Given the description of an element on the screen output the (x, y) to click on. 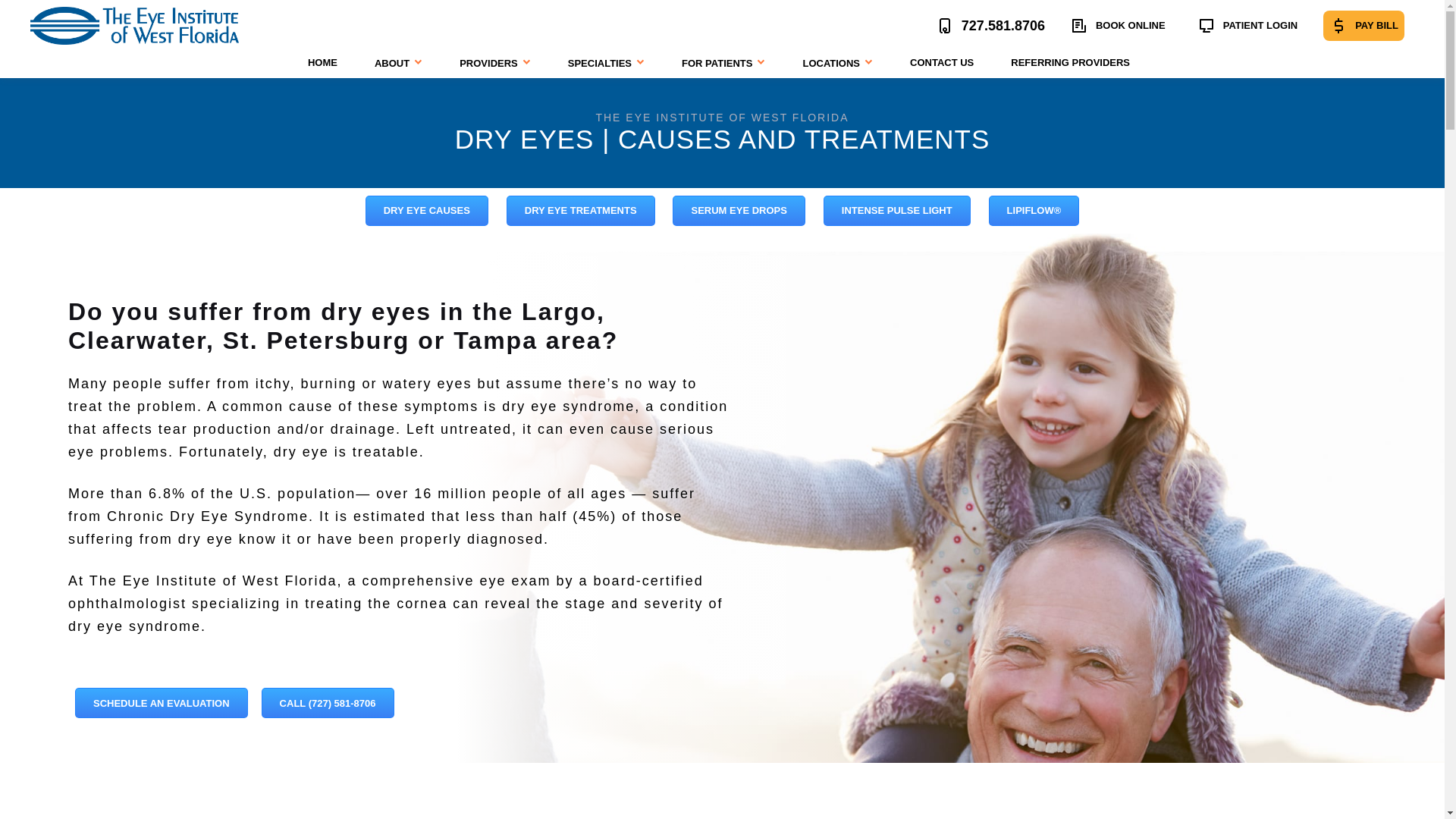
PROVIDERS (498, 62)
ABOUT (401, 62)
BOOK ONLINE (1118, 25)
Click Here to Book your Appointment Online (1118, 25)
Click Here to Call 727.581.8706 (990, 25)
Click Here to Pay your Bill Online (1364, 25)
Doctors (498, 62)
The Eye Institute of West Florida (325, 62)
Click Here to Access Our Patient Portal (1247, 25)
727.581.8706 (990, 25)
